Given the description of an element on the screen output the (x, y) to click on. 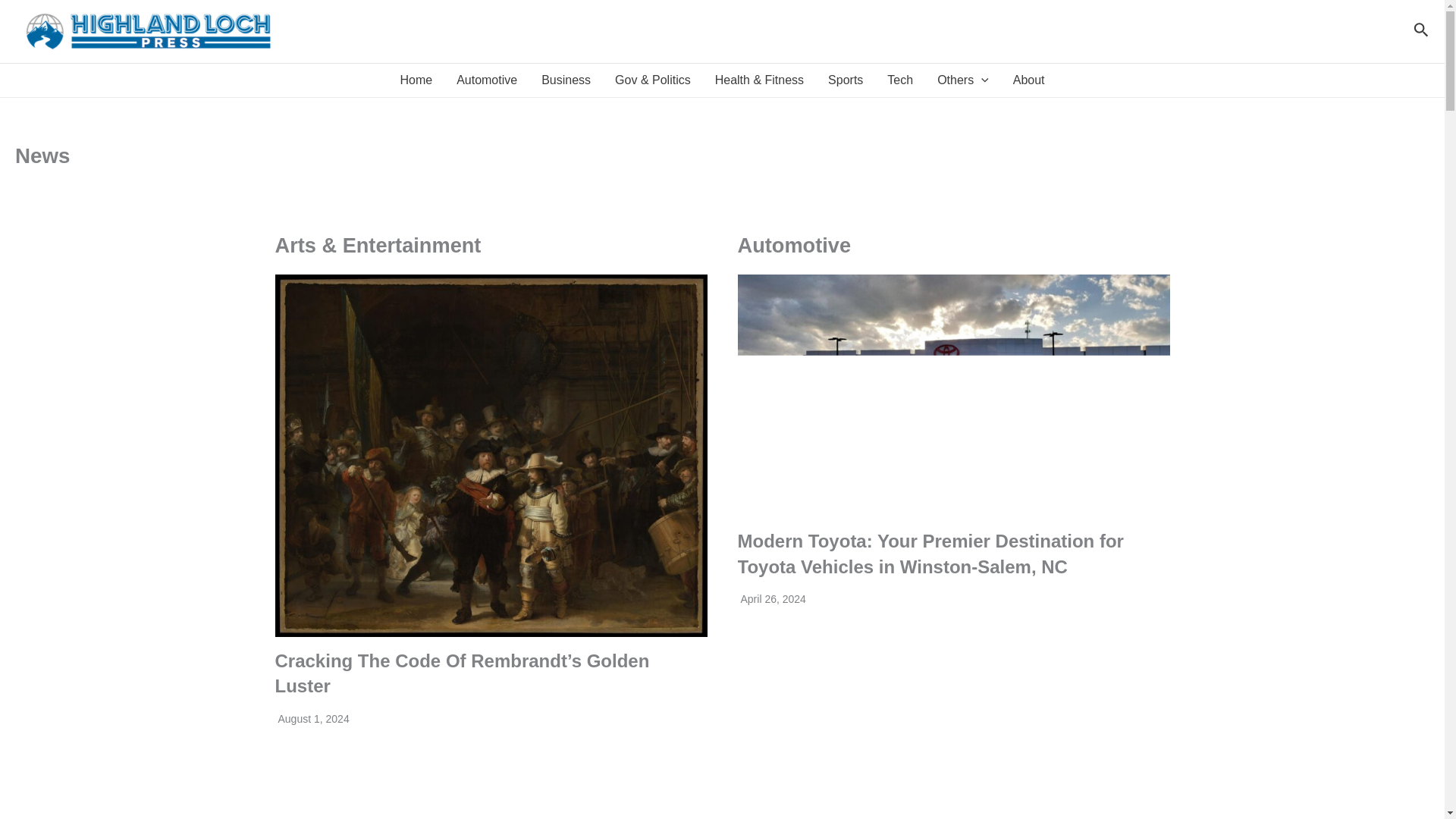
Sports (845, 80)
Automotive (486, 80)
Business (565, 80)
Home (415, 80)
Others (962, 80)
Tech (899, 80)
About (1029, 80)
